Given the description of an element on the screen output the (x, y) to click on. 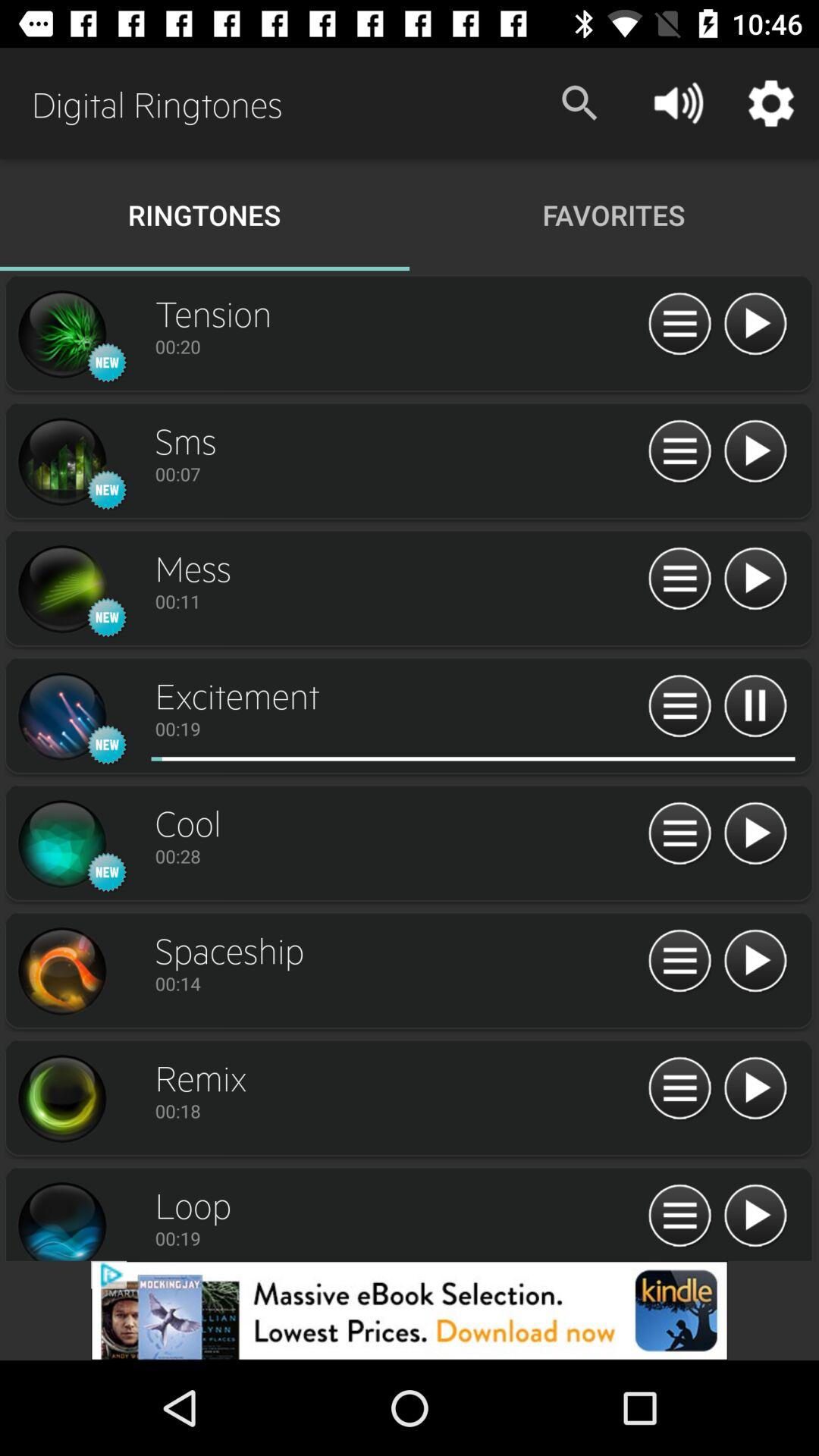
go to ringtone (61, 1099)
